Given the description of an element on the screen output the (x, y) to click on. 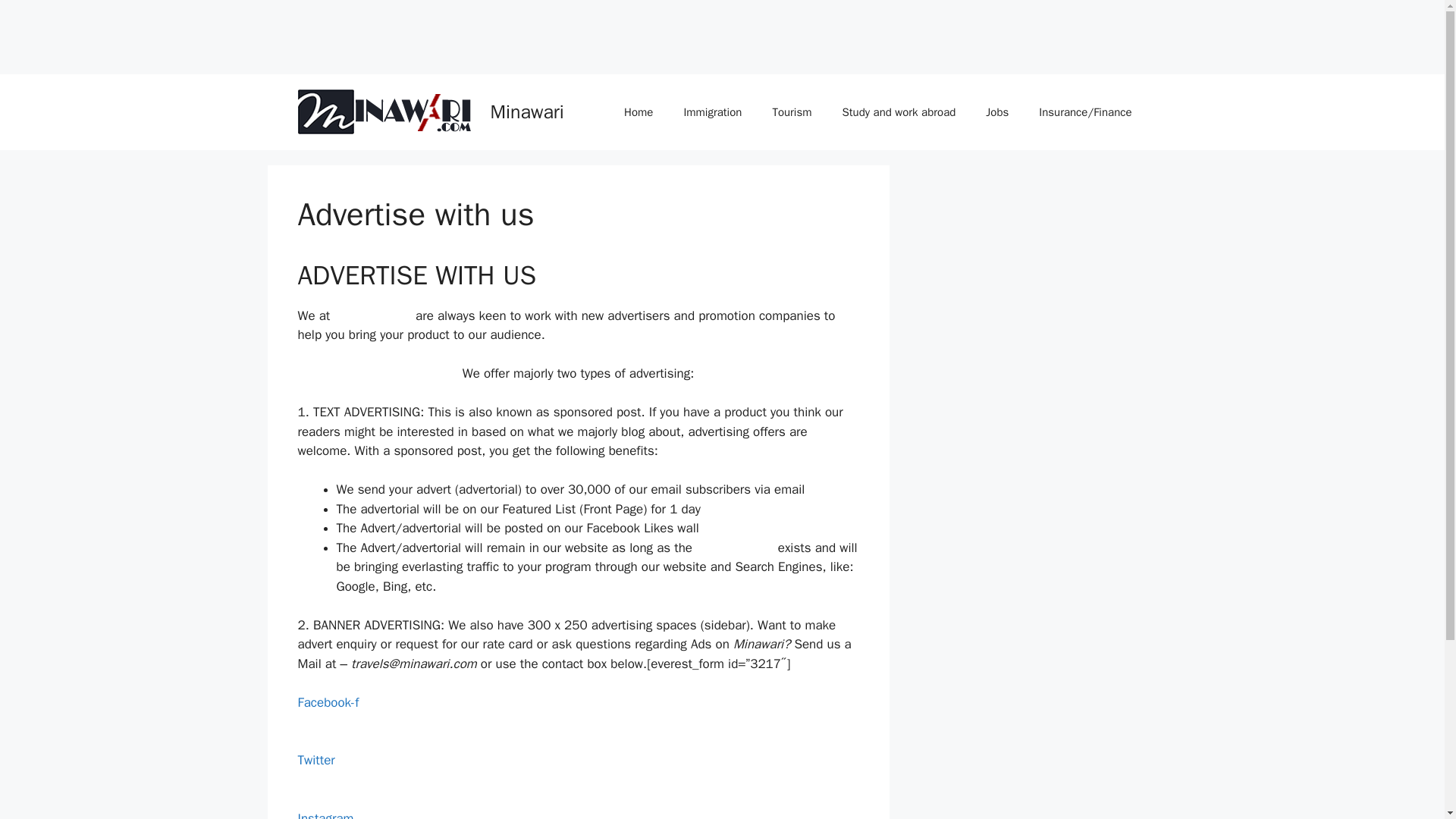
Advertisement (275, 33)
Twitter (315, 769)
Facebook-f (327, 712)
Immigration (712, 112)
Minawari (526, 111)
Jobs (997, 112)
Study and work abroad (899, 112)
Home (638, 112)
Instagram (325, 814)
Minawari.com (372, 315)
Minawari.com (734, 547)
Tourism (792, 112)
